Given the description of an element on the screen output the (x, y) to click on. 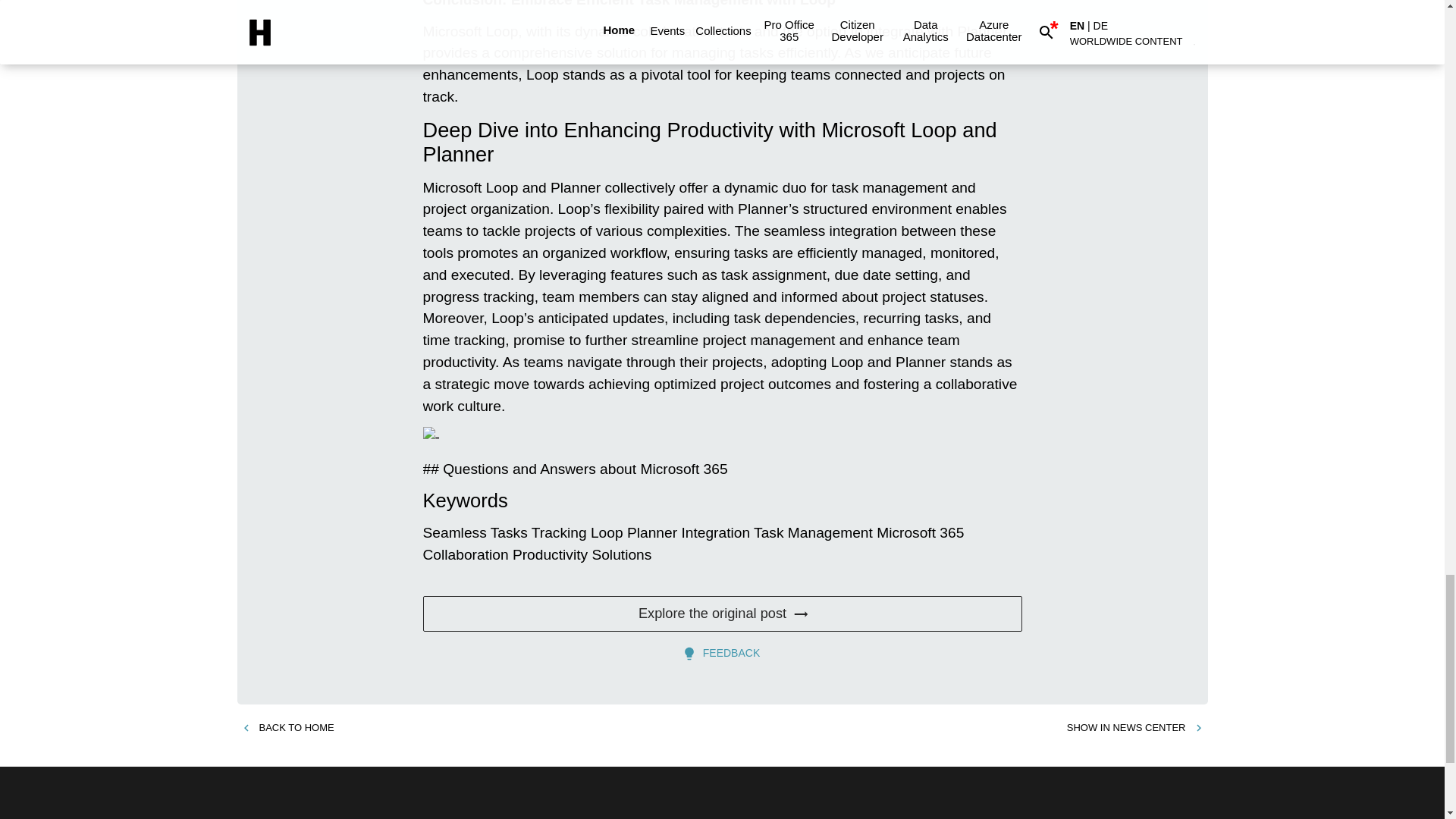
FEEDBACK (721, 653)
BACK TO HOME (286, 728)
Explore the original post (722, 614)
SHOW IN NEWS CENTER (1135, 728)
